Given the description of an element on the screen output the (x, y) to click on. 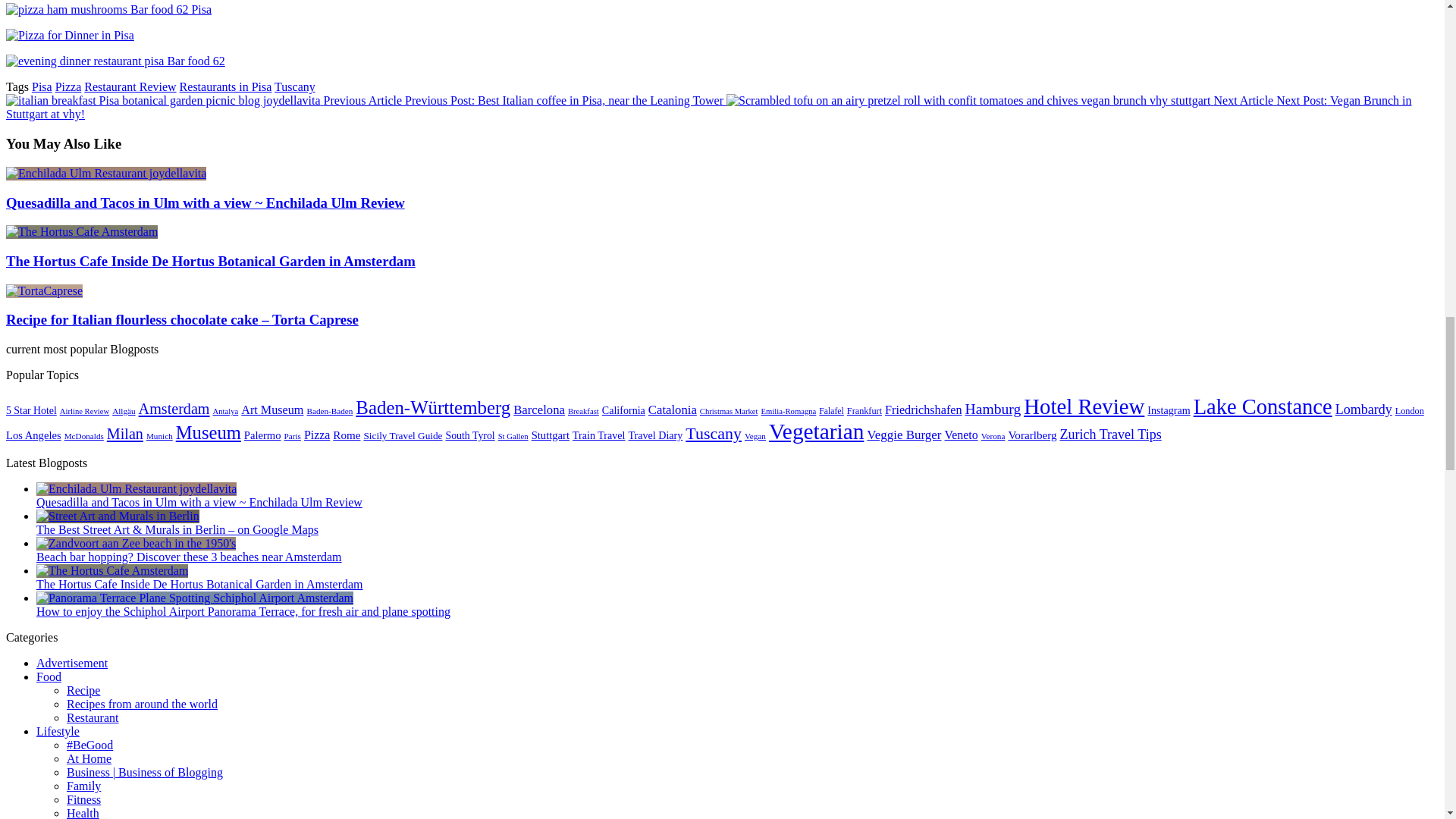
pizza ham mushrooms Bar food 62 Pisa (108, 9)
Vegan Brunch in Stuttgart at vhy! 13 (968, 100)
evening dinner restaurant pisa Bar food 62 (115, 60)
Best Italian coffee in Pisa, near the Leaning Tower 12 (162, 100)
Pizza for Dinner in Pisa (69, 34)
